Given the description of an element on the screen output the (x, y) to click on. 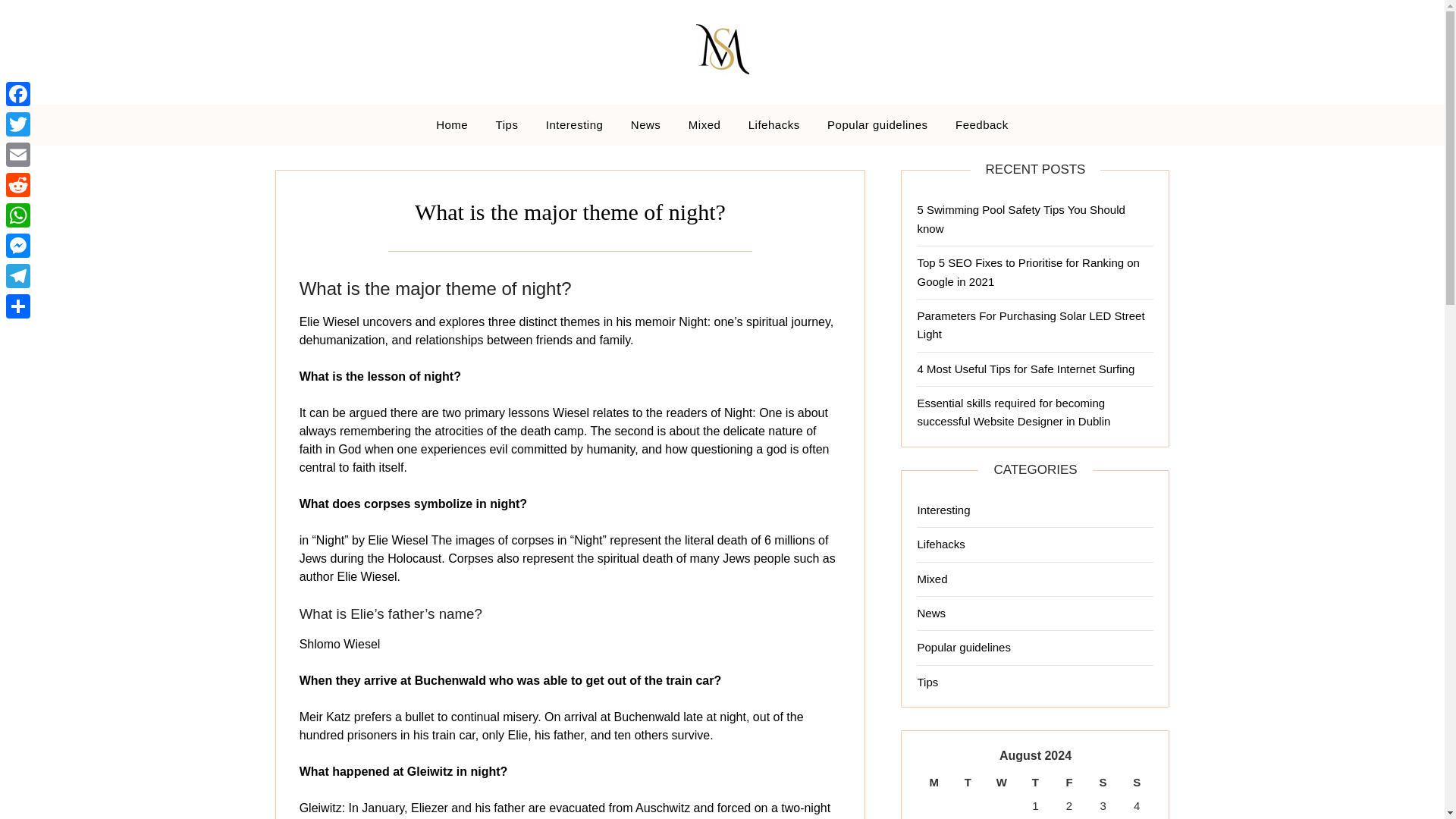
Interesting (574, 124)
News (645, 124)
Wednesday (1002, 782)
News (930, 612)
Reddit (17, 184)
Mixed (705, 124)
Lifehacks (940, 543)
5 Swimming Pool Safety Tips You Should know (1020, 218)
Lifehacks (774, 124)
Twitter (17, 123)
